Given the description of an element on the screen output the (x, y) to click on. 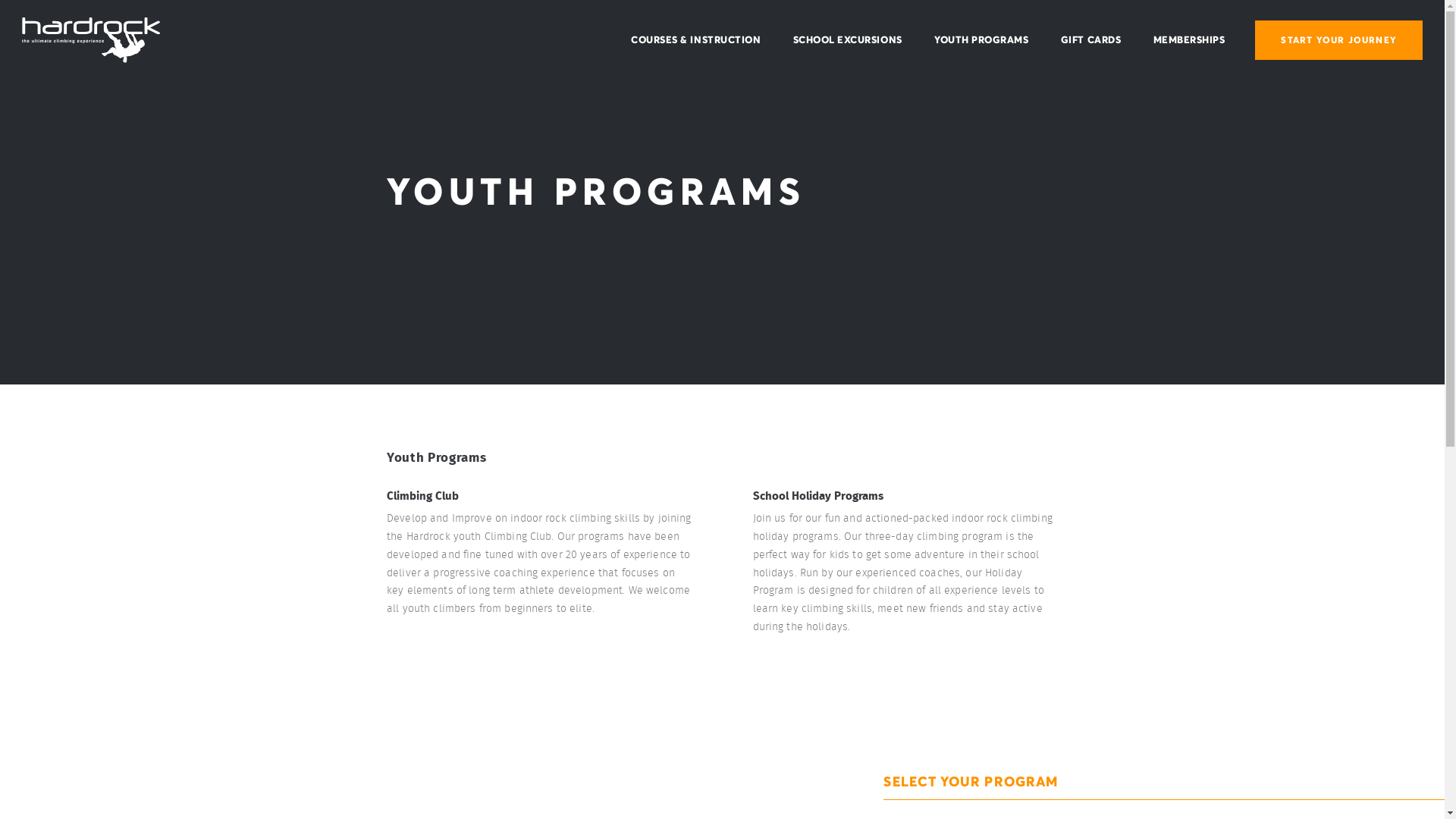
COURSES & INSTRUCTION Element type: text (695, 40)
SCHOOL EXCURSIONS Element type: text (847, 40)
MEMBERSHIPS Element type: text (1189, 40)
GIFT CARDS Element type: text (1090, 40)
START YOUR JOURNEY Element type: text (1338, 39)
YOUTH PROGRAMS Element type: text (981, 40)
